Given the description of an element on the screen output the (x, y) to click on. 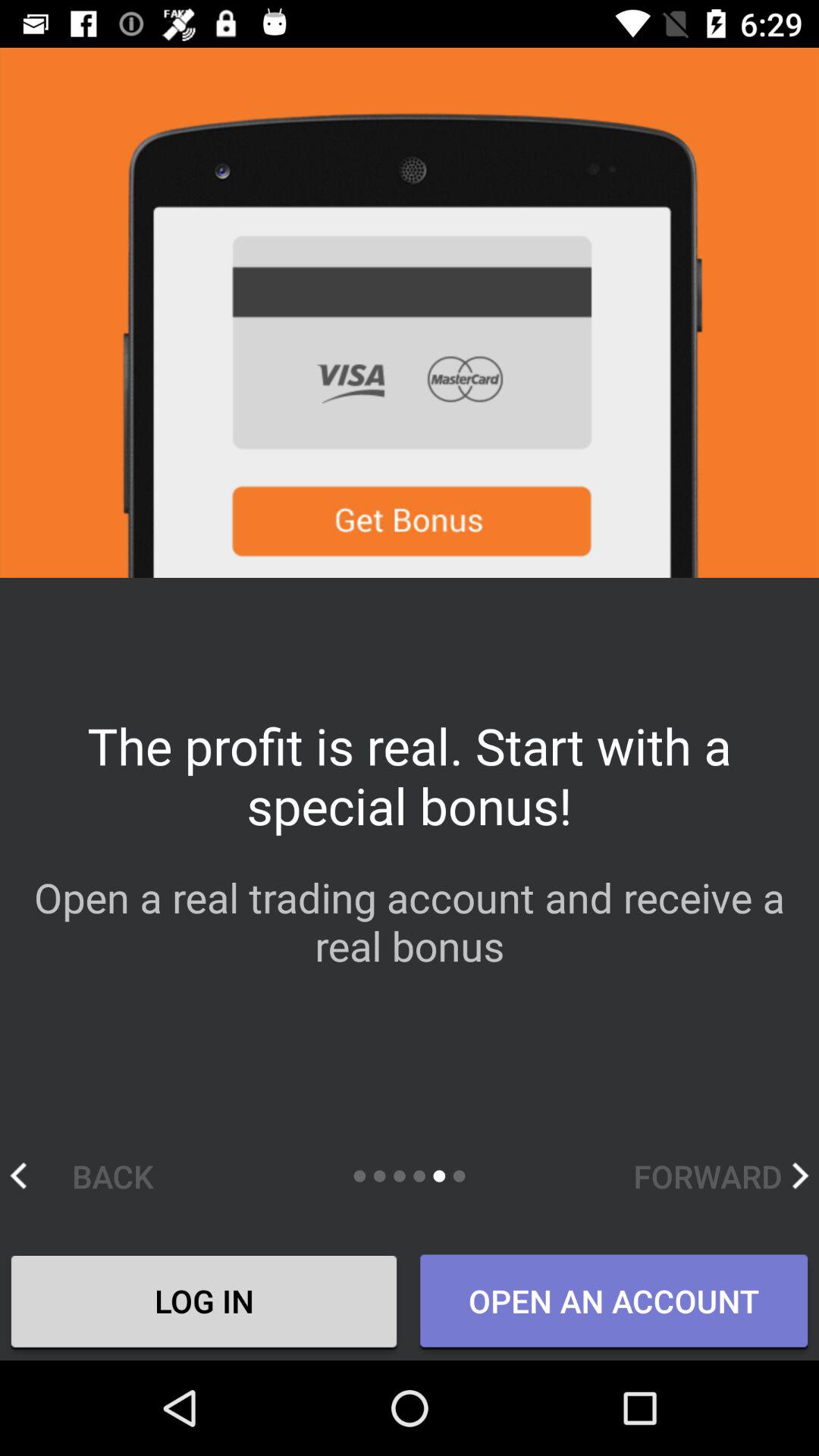
tap the item to the left of open an account item (204, 1303)
